Given the description of an element on the screen output the (x, y) to click on. 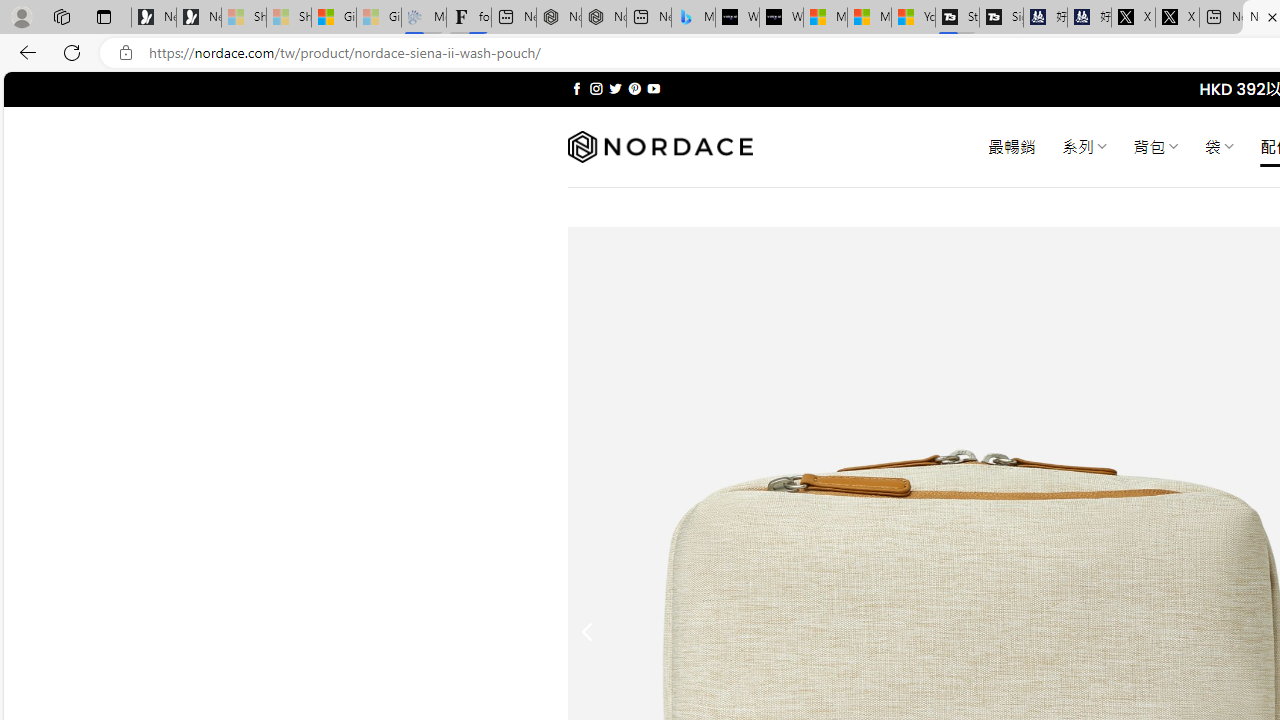
Streaming Coverage | T3 (957, 17)
Follow on Pinterest (634, 88)
Follow on Instagram (596, 88)
